Given the description of an element on the screen output the (x, y) to click on. 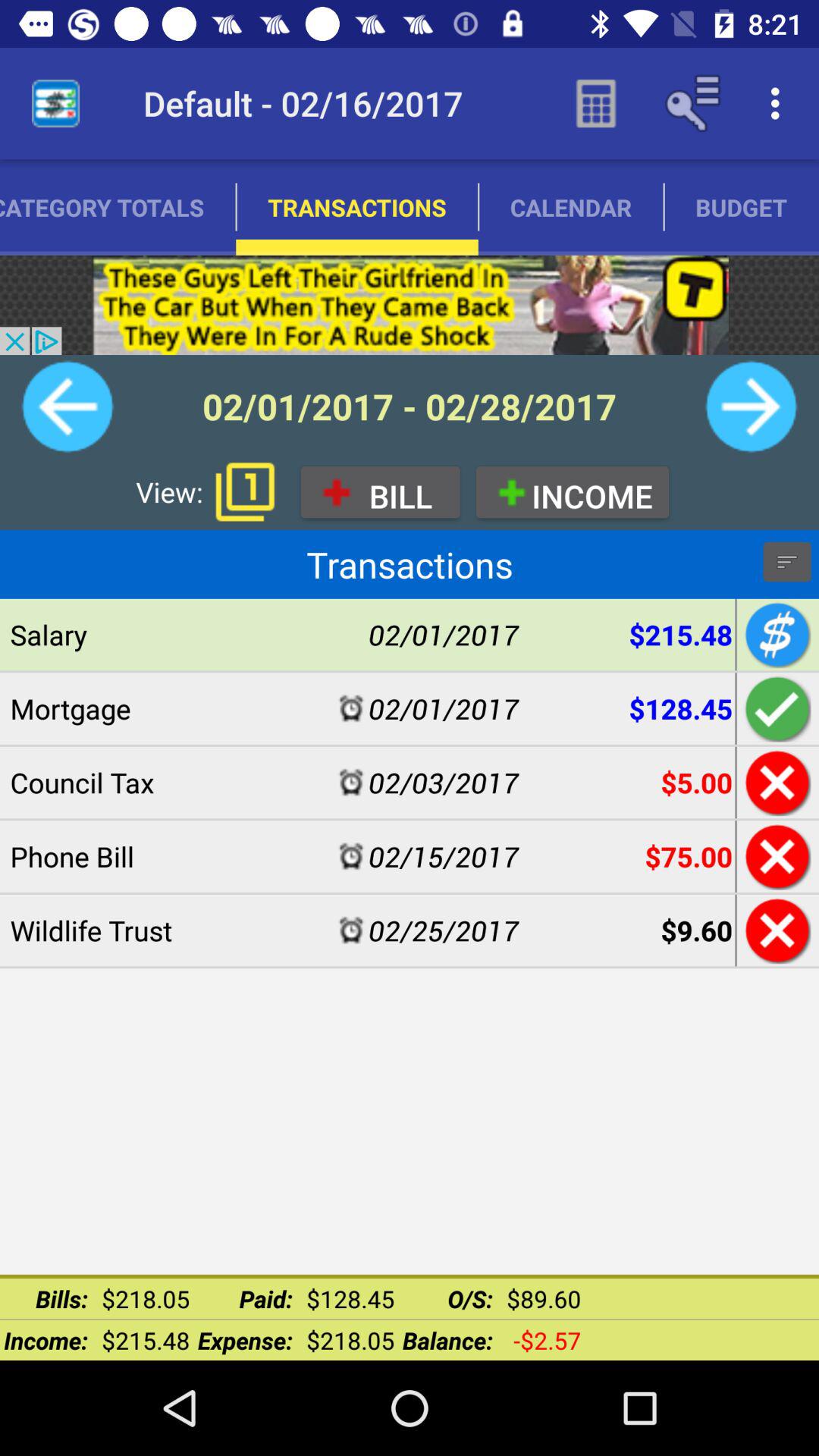
advertisement (409, 304)
